Given the description of an element on the screen output the (x, y) to click on. 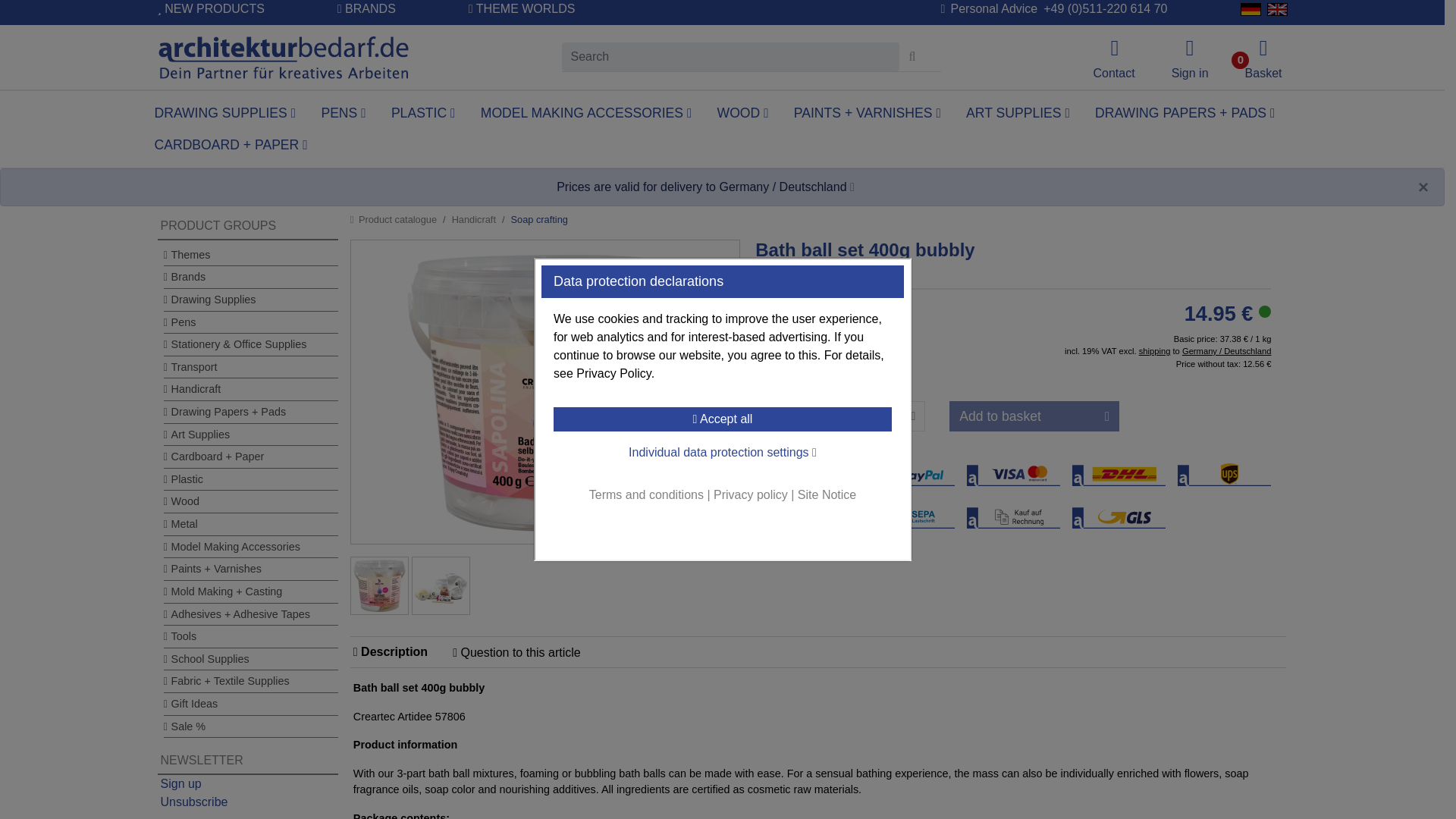
NEW PRODUCTS (210, 15)
Invoice (1012, 516)
Advance Payment (801, 516)
Delivery Time 1 - 3 Working Days (1265, 311)
1 (864, 416)
Bath ball set 400g bubbly (379, 585)
Invoice for Companies (801, 473)
Shipping with UPS (1224, 473)
DRAWING SUPPLIES (226, 112)
Shipping with DHL (1118, 473)
